Given the description of an element on the screen output the (x, y) to click on. 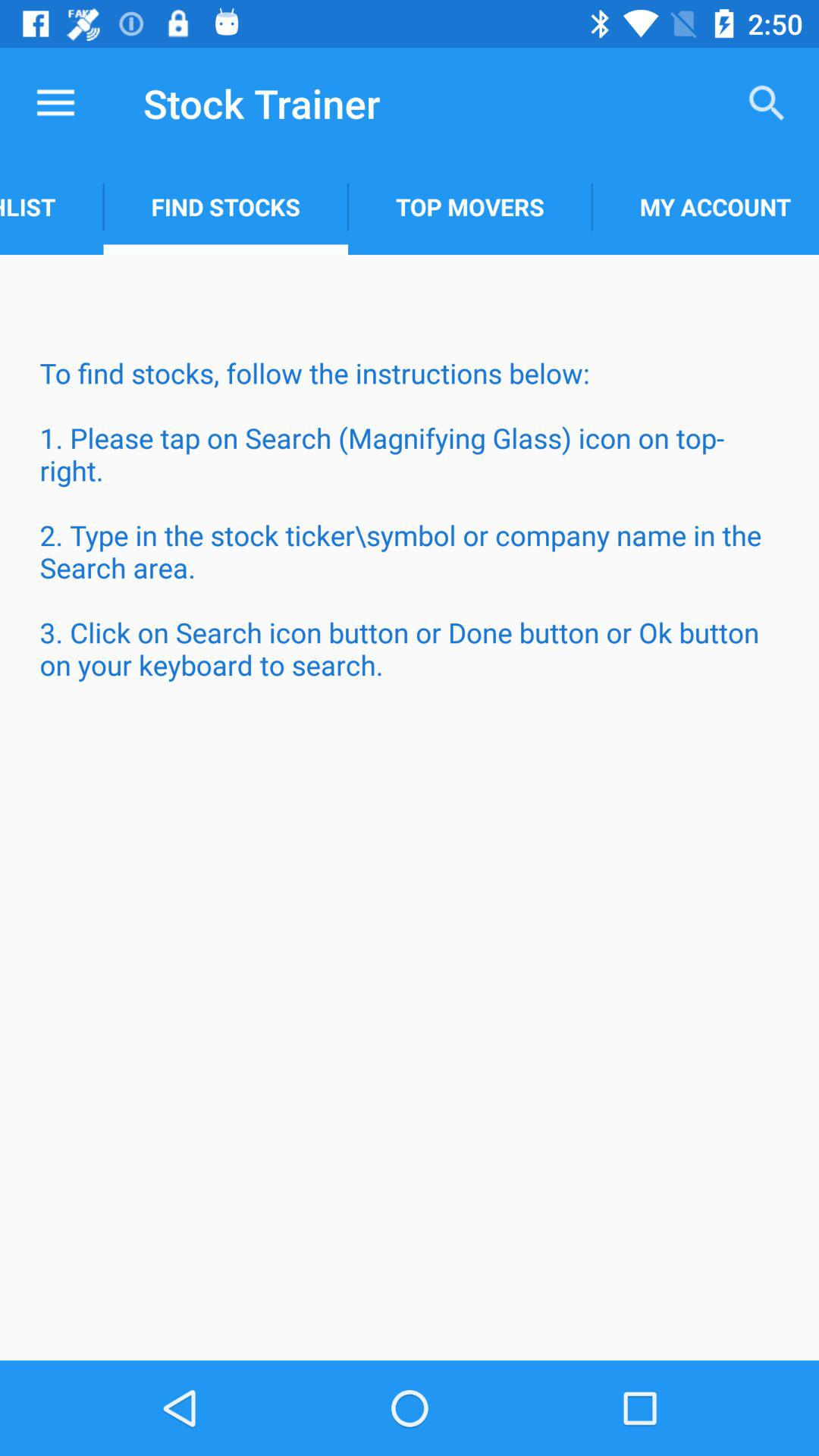
turn off icon above the to find stocks item (51, 206)
